Given the description of an element on the screen output the (x, y) to click on. 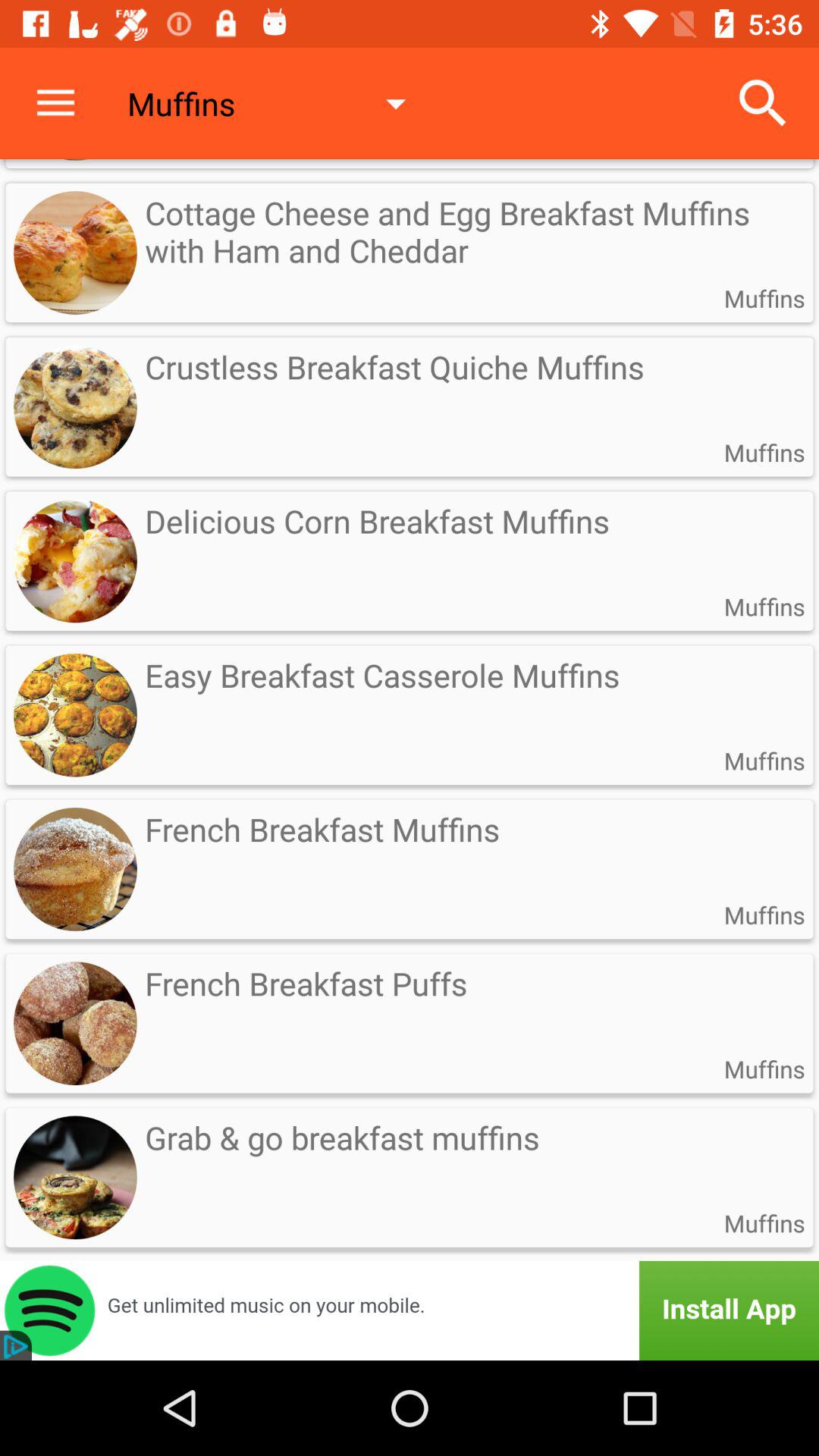
gallery tool boy (409, 1310)
